Given the description of an element on the screen output the (x, y) to click on. 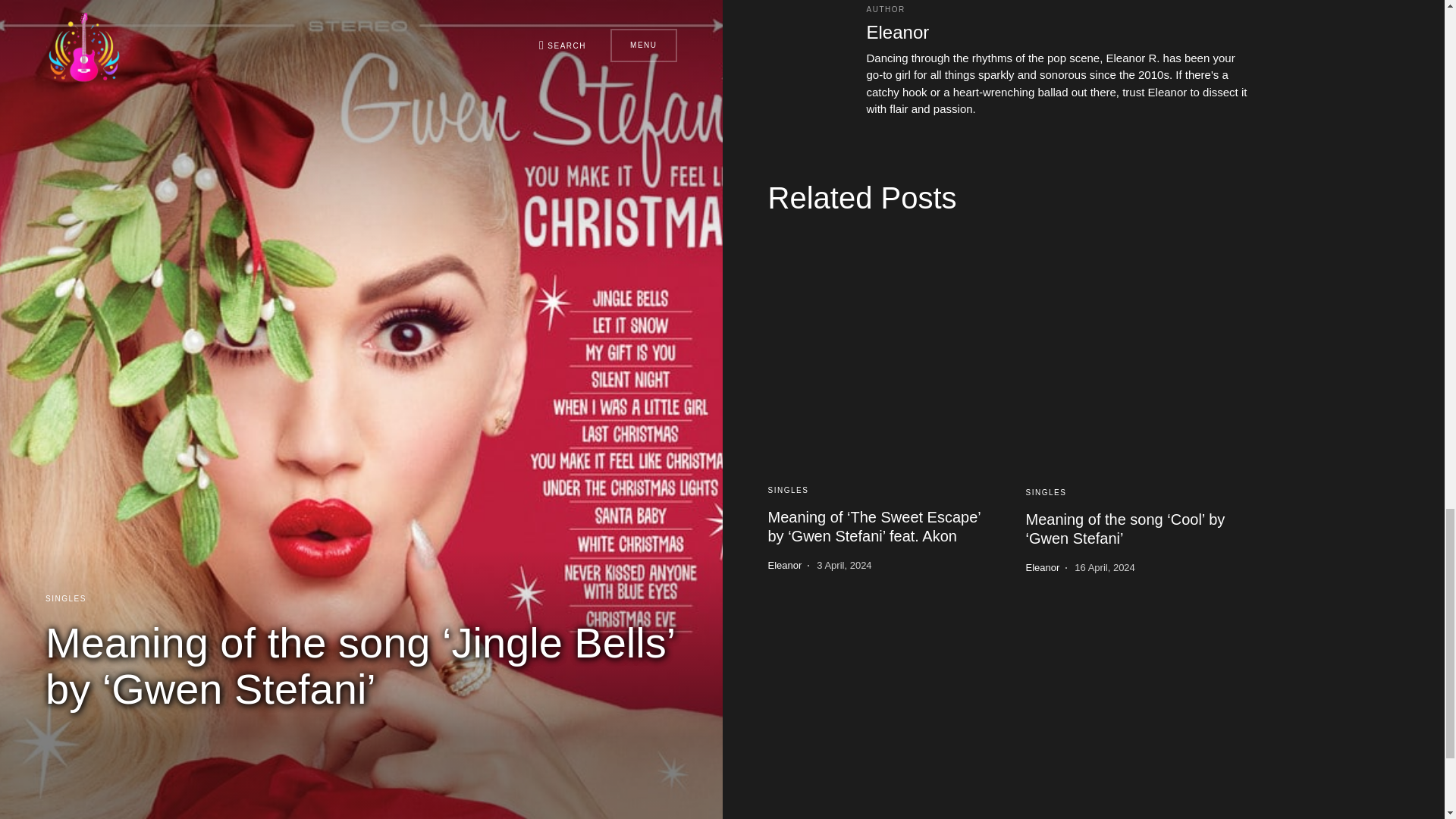
View all posts by Eleanor (784, 565)
View all posts by Eleanor (1042, 567)
Eleanor (897, 32)
